Given the description of an element on the screen output the (x, y) to click on. 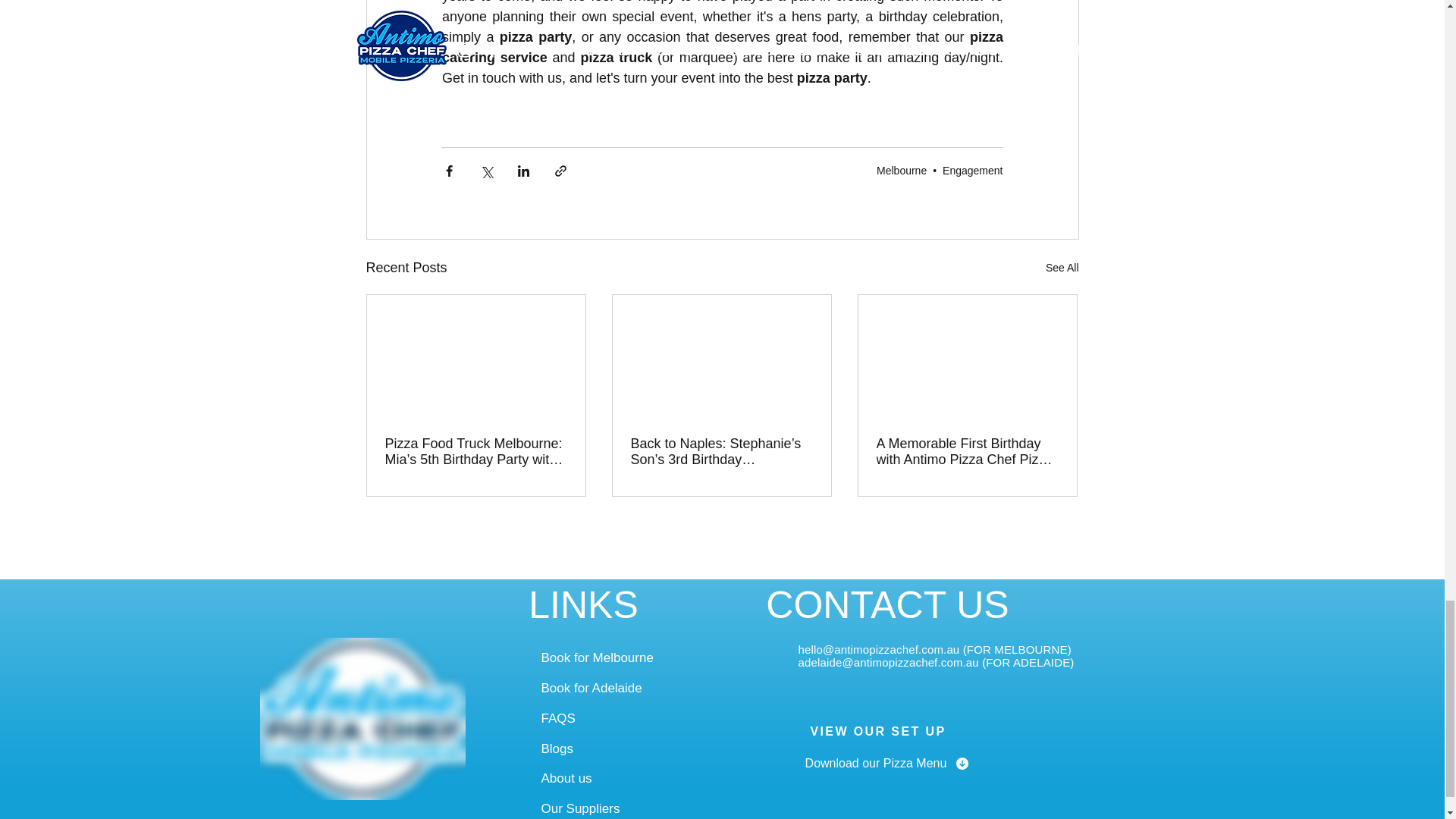
Melbourne (901, 169)
Engagement (972, 169)
Book for Melbourne (625, 657)
Blogs (609, 748)
Book for Adelaide (625, 688)
FAQS (622, 718)
See All (1061, 268)
